Given the description of an element on the screen output the (x, y) to click on. 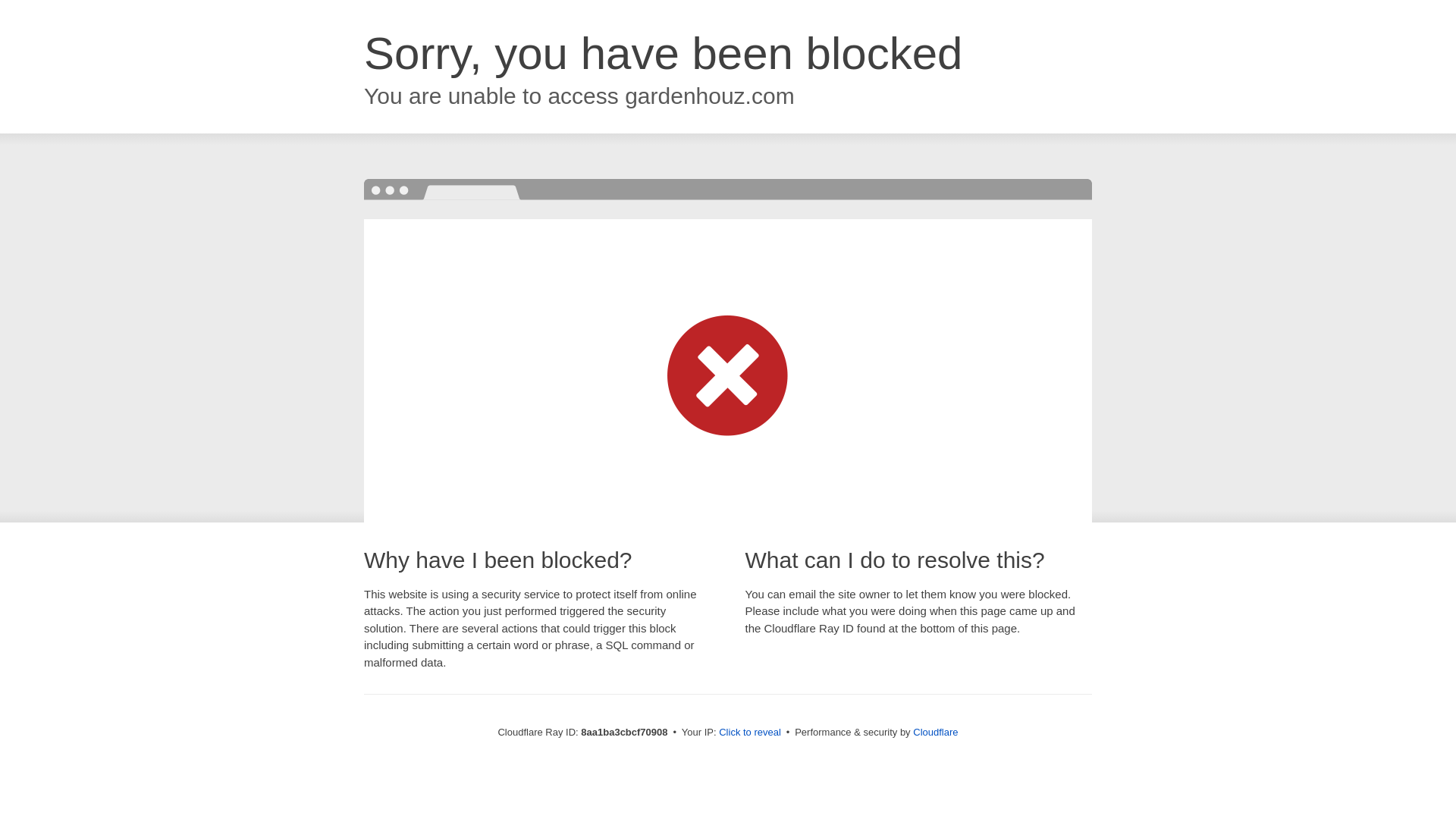
Cloudflare (935, 731)
Click to reveal (749, 732)
